Given the description of an element on the screen output the (x, y) to click on. 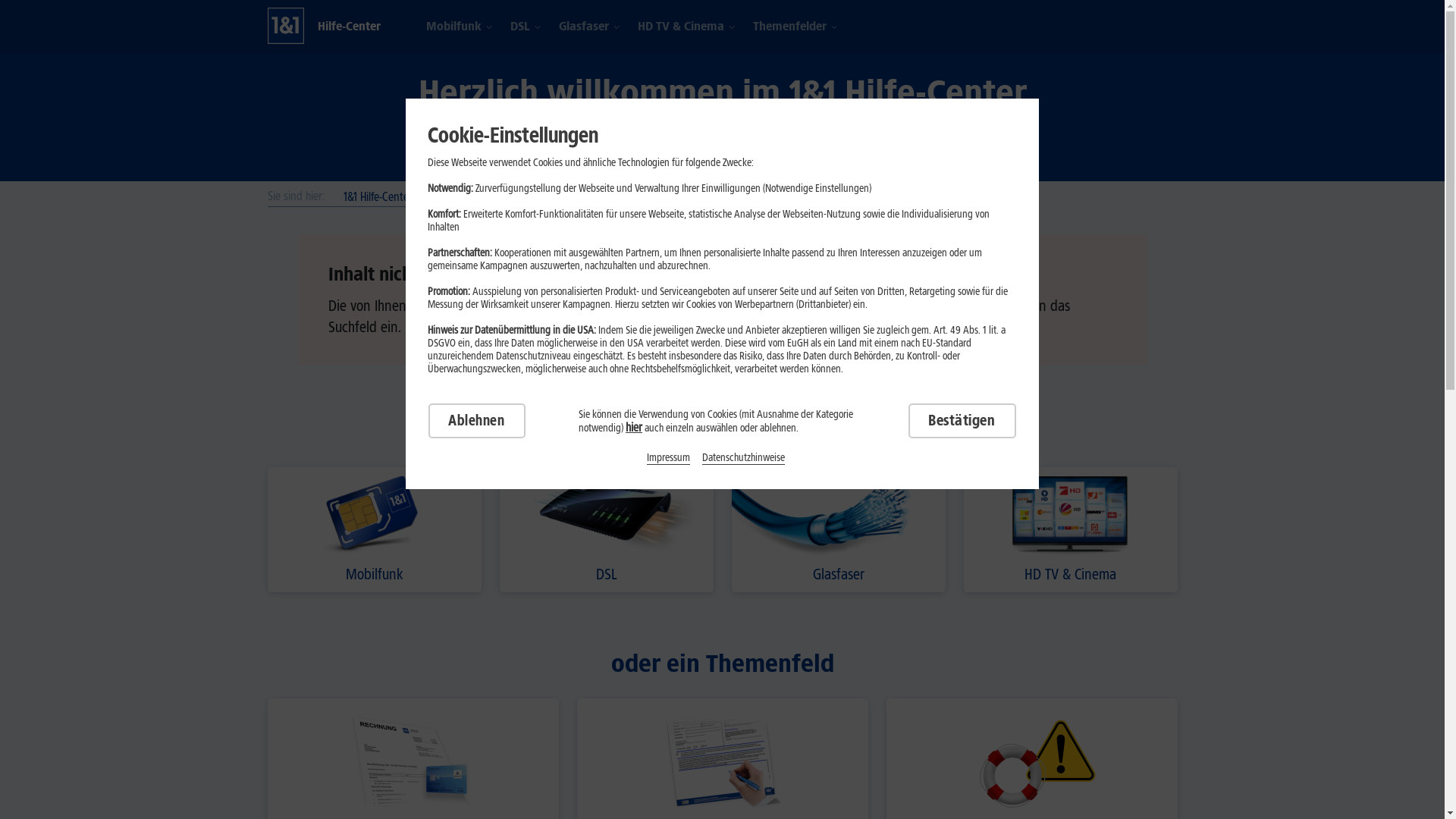
hier Element type: text (633, 427)
Mobilfunk Element type: text (453, 26)
Datenschutzhinweise Element type: text (743, 457)
Glasfaser Element type: text (583, 26)
DSL Element type: text (605, 529)
Impressum Element type: text (668, 457)
Mobilfunk Element type: text (373, 529)
Glasfaser Element type: text (837, 529)
Hilfe-Center Element type: text (347, 25)
HD TV & Cinema Element type: text (680, 26)
DSL Element type: text (519, 26)
HD TV & Cinema Element type: text (1069, 529)
Ablehnen Element type: text (475, 420)
1&1 Hilfe-Center Element type: text (376, 196)
Themenfelder Element type: text (788, 26)
